Given the description of an element on the screen output the (x, y) to click on. 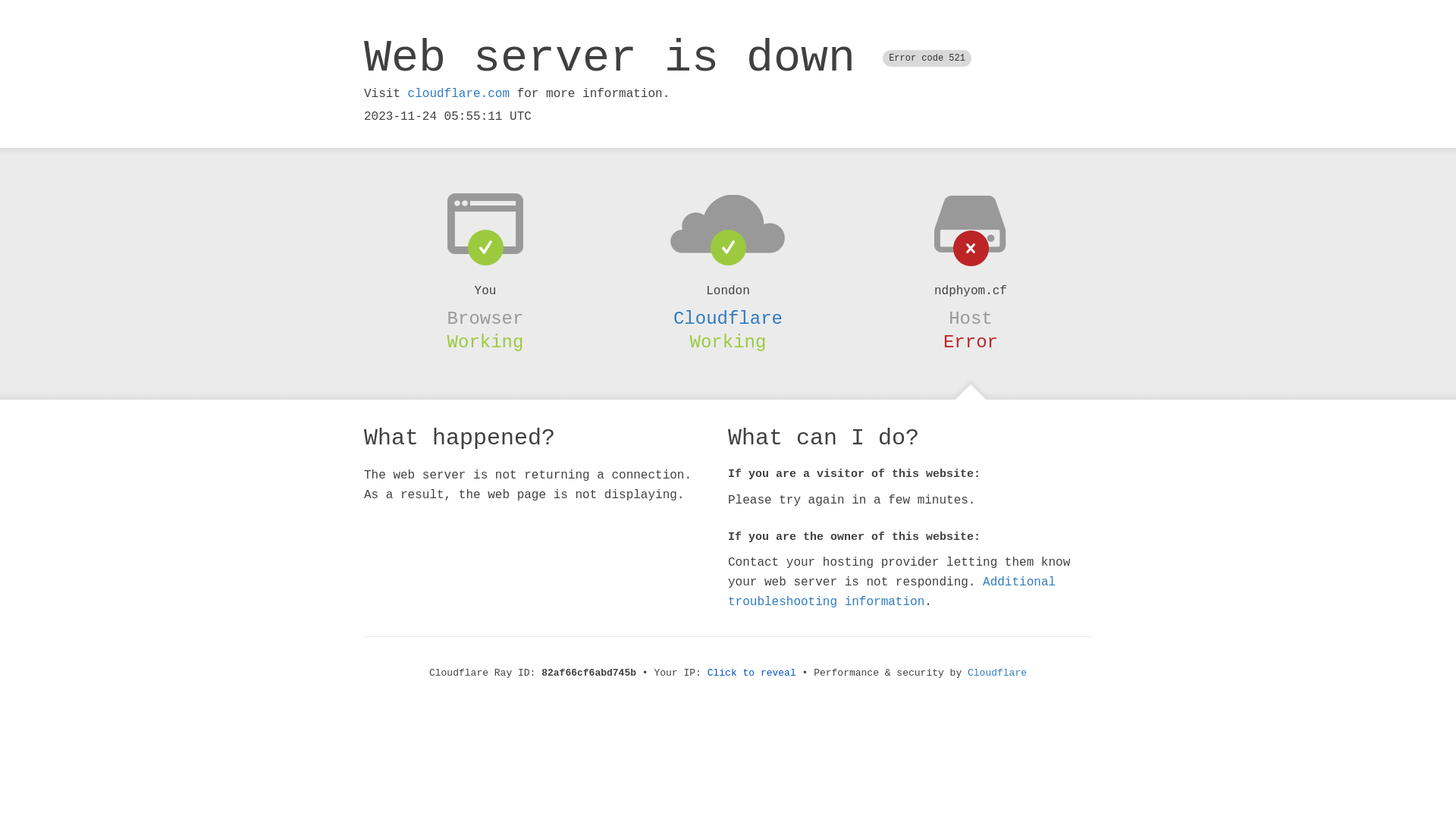
Cloudflare Element type: text (727, 318)
cloudflare.com Element type: text (458, 93)
Click to reveal Element type: text (751, 672)
Cloudflare Element type: text (996, 672)
Additional troubleshooting information Element type: text (891, 591)
